Given the description of an element on the screen output the (x, y) to click on. 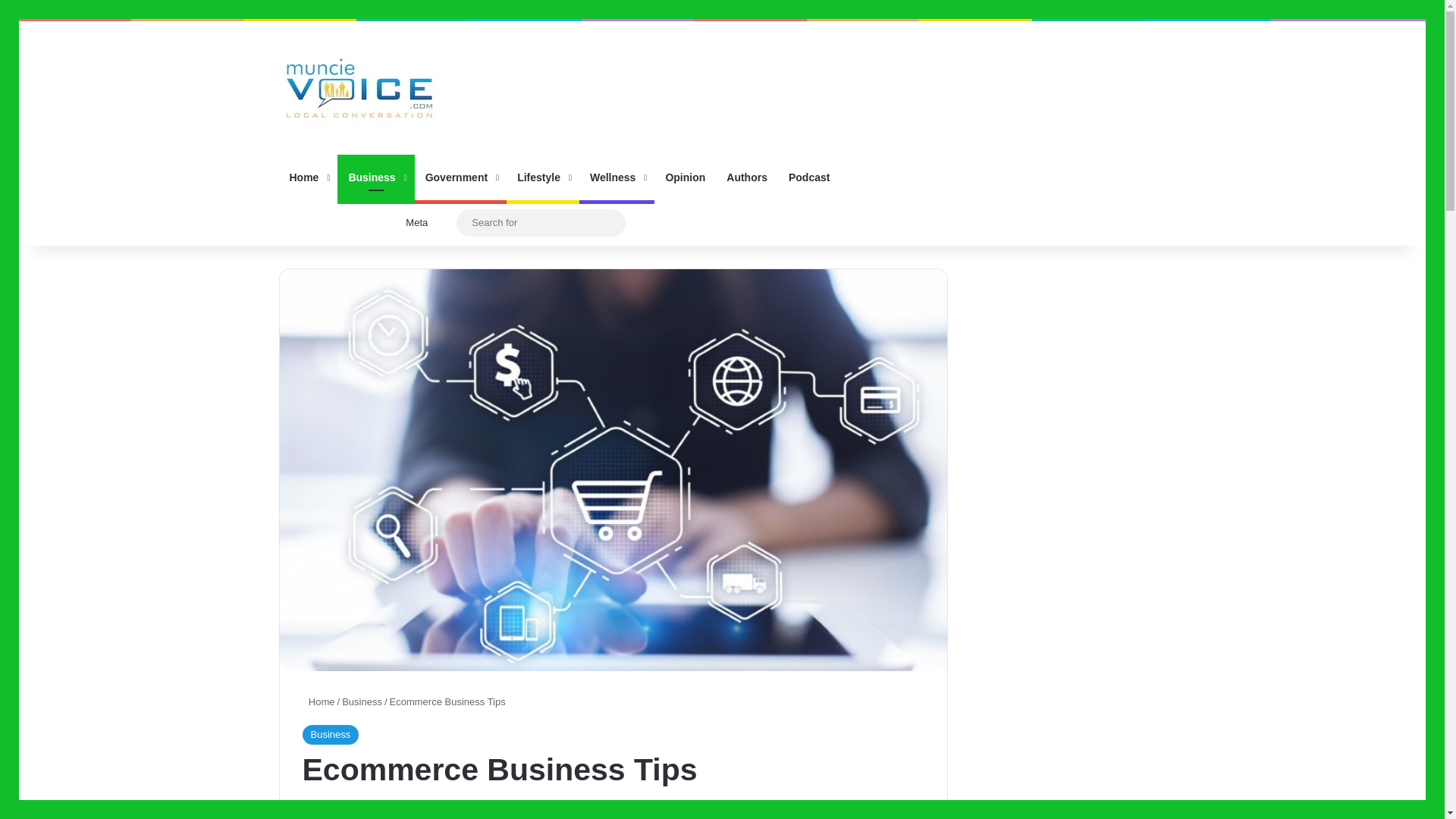
Business (329, 734)
Business (361, 701)
Authors (746, 176)
Home (308, 176)
Search for (610, 222)
Opinion (684, 176)
Search for (541, 221)
Government (460, 176)
Muncie Voice (359, 87)
Lifestyle (542, 176)
